Given the description of an element on the screen output the (x, y) to click on. 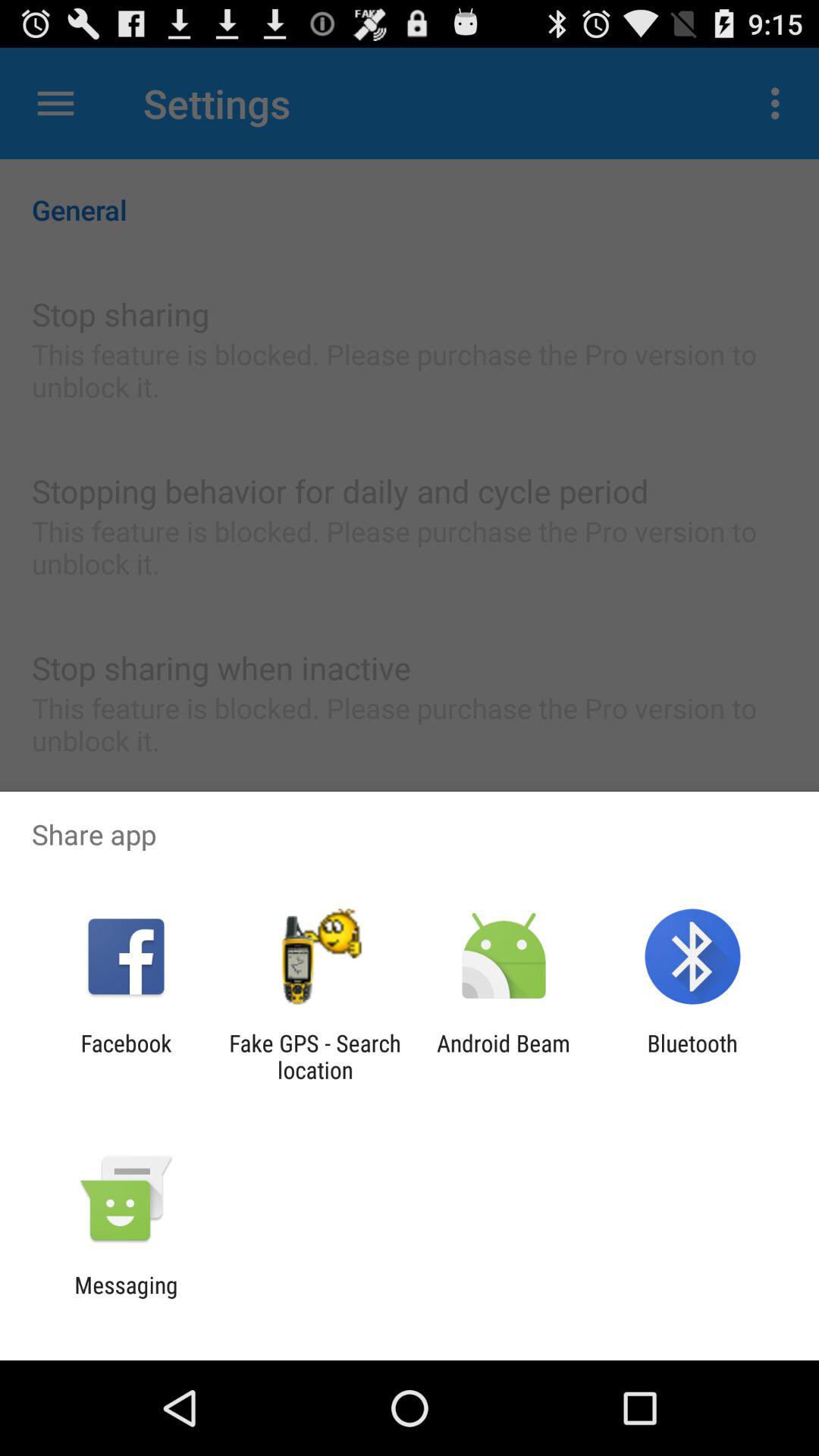
choose facebook icon (125, 1056)
